Given the description of an element on the screen output the (x, y) to click on. 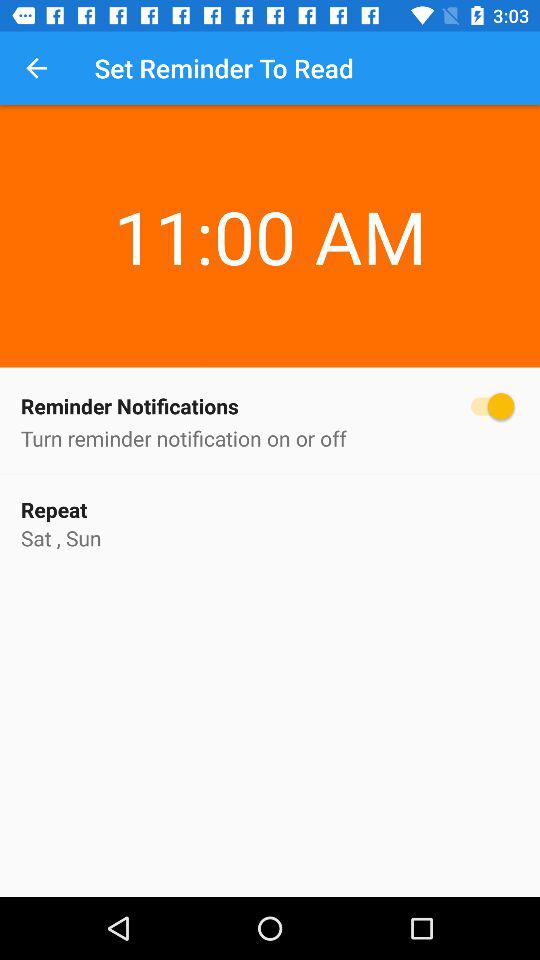
launch the icon above the turn reminder notification (270, 406)
